Given the description of an element on the screen output the (x, y) to click on. 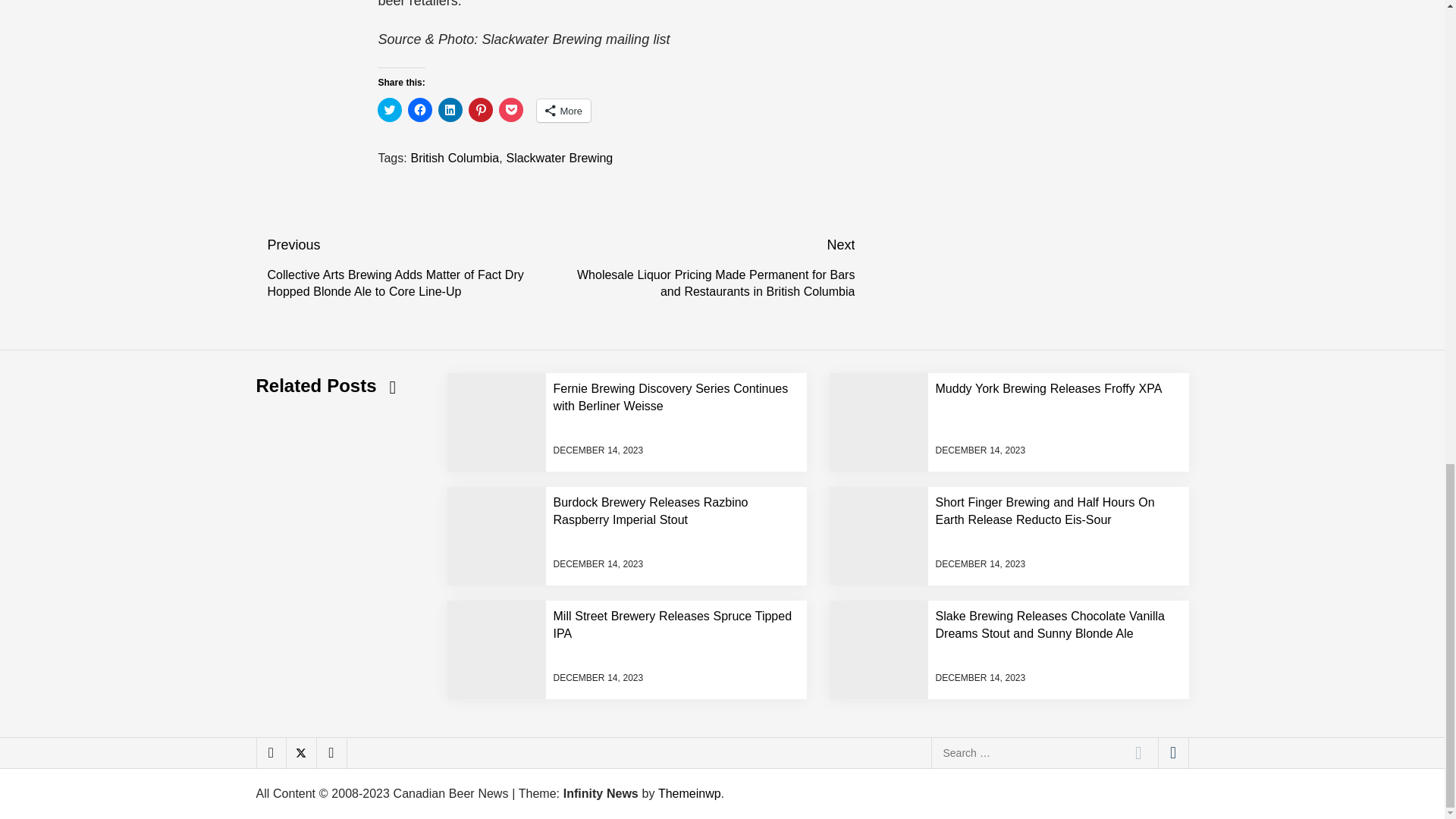
Click to share on Pinterest (480, 109)
Search (1138, 752)
More (564, 110)
Click to share on Twitter (389, 109)
British Columbia (454, 157)
Slackwater Brewing (558, 157)
Click to share on Facebook (419, 109)
Search (1138, 752)
